Given the description of an element on the screen output the (x, y) to click on. 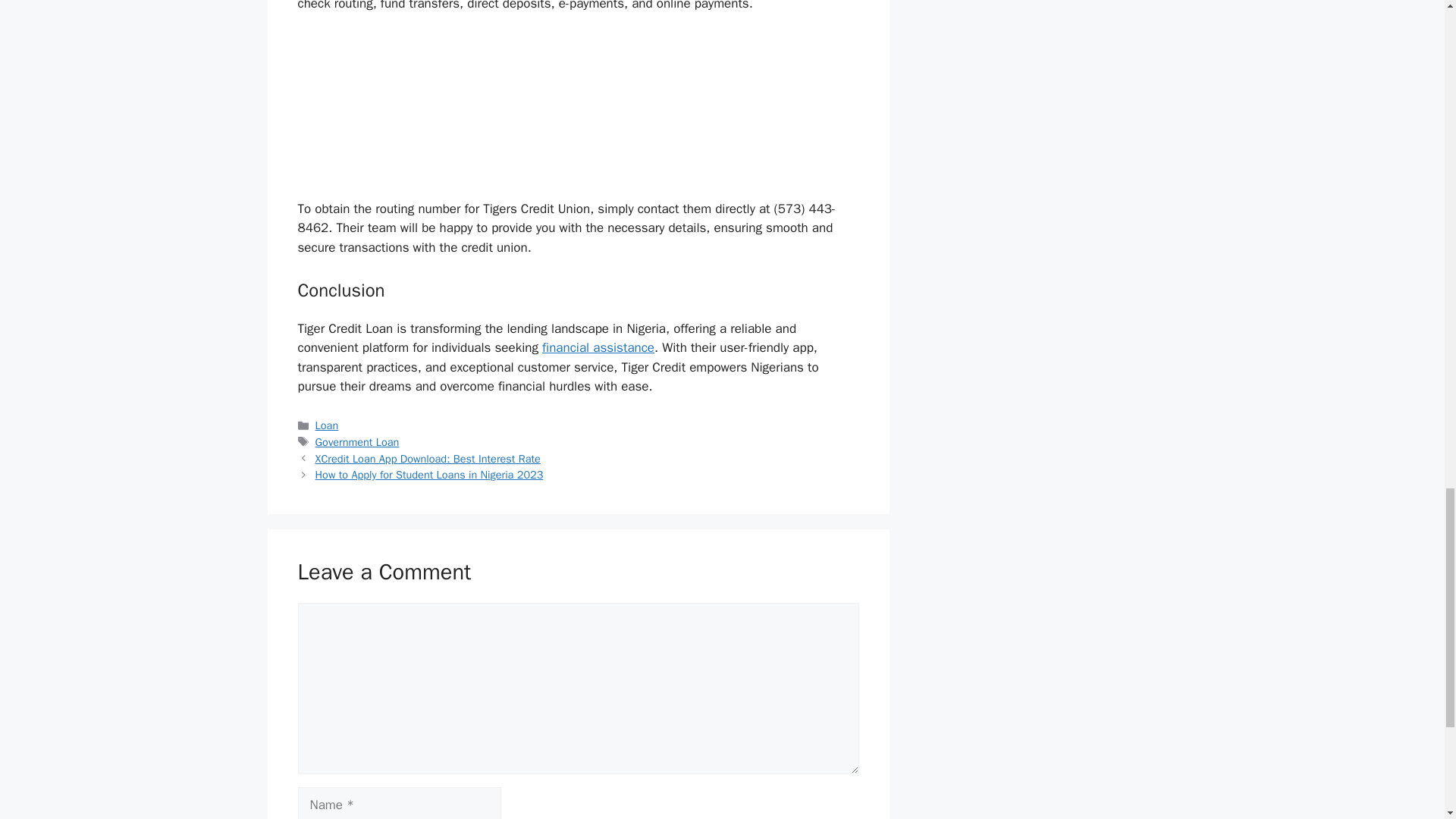
Government Loan (356, 441)
Loan (327, 425)
financial assistance (597, 347)
How to Apply for Student Loans in Nigeria 2023 (429, 474)
XCredit Loan App Download: Best Interest Rate (427, 459)
